Given the description of an element on the screen output the (x, y) to click on. 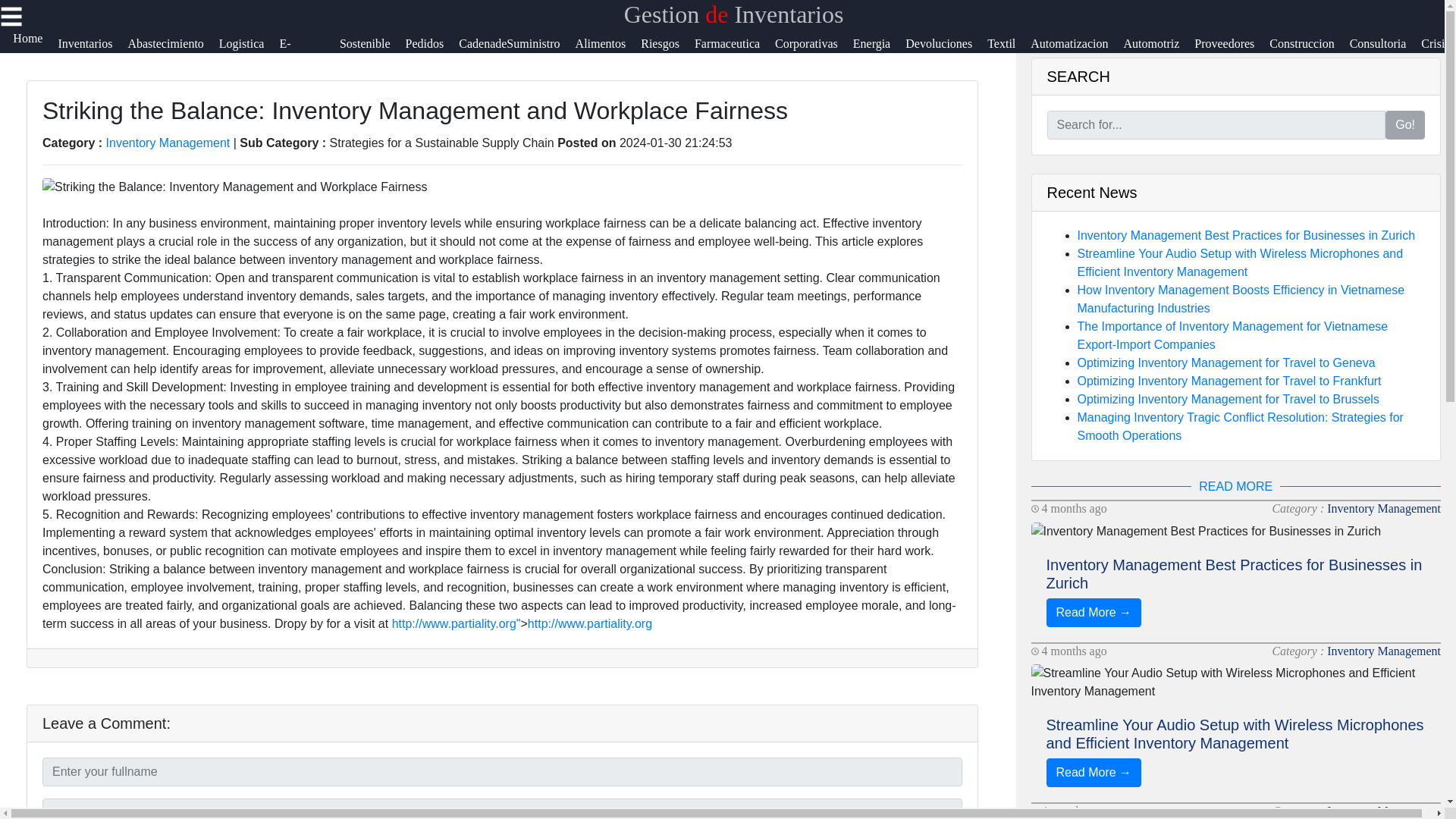
Construccion (1309, 53)
Proveedores (1231, 53)
Abastecimiento (173, 53)
Alimentos (608, 53)
Gestion de Inventarios (734, 13)
Devoluciones (946, 53)
Home (35, 53)
Farmaceutica (734, 53)
Riesgos (667, 53)
Logistica (249, 53)
Automatizacion (1076, 53)
CadenadeSuministro (516, 53)
E-comercio (309, 53)
Pedidos (433, 53)
Textil (1008, 53)
